Given the description of an element on the screen output the (x, y) to click on. 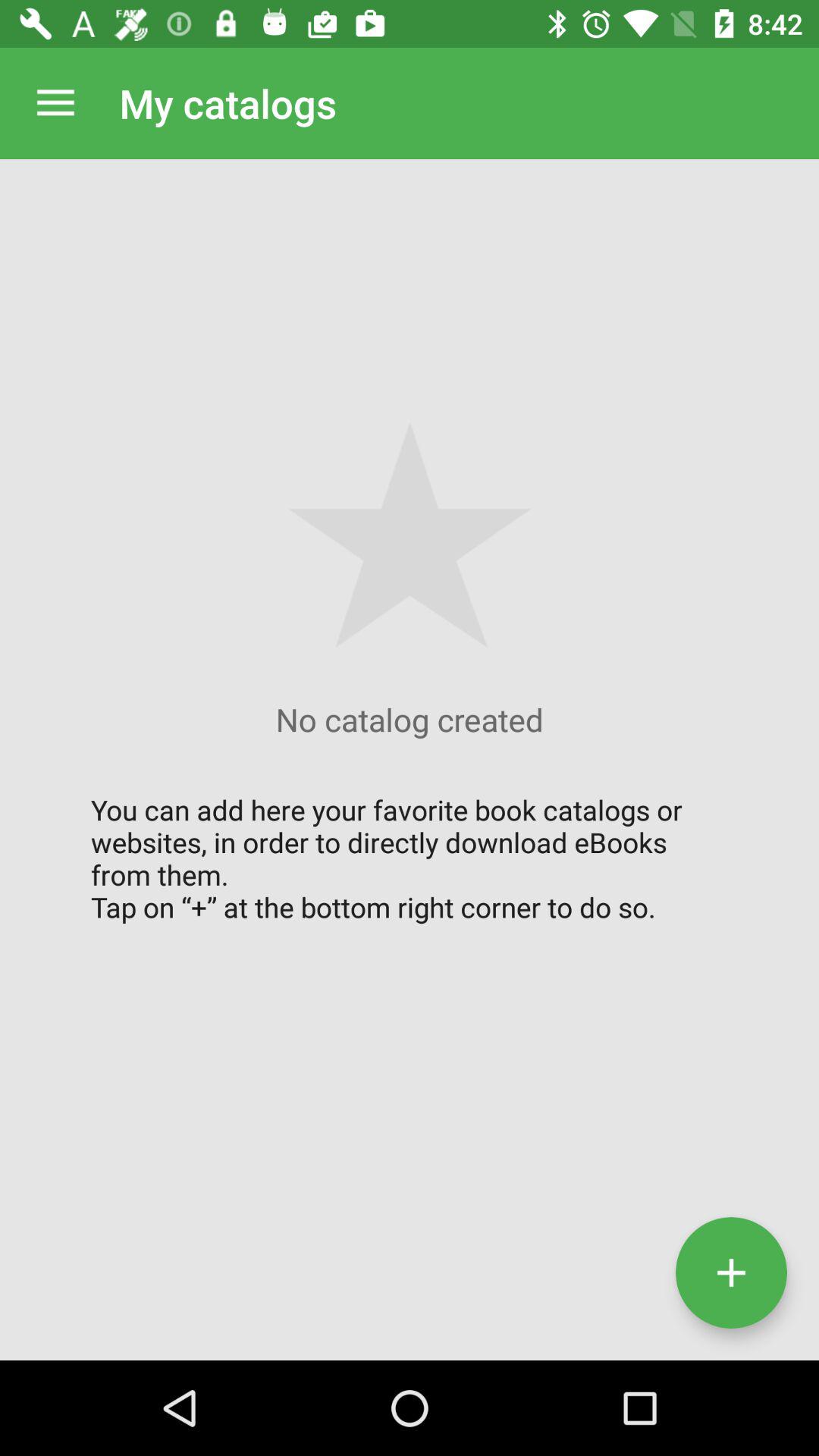
add more (731, 1272)
